Given the description of an element on the screen output the (x, y) to click on. 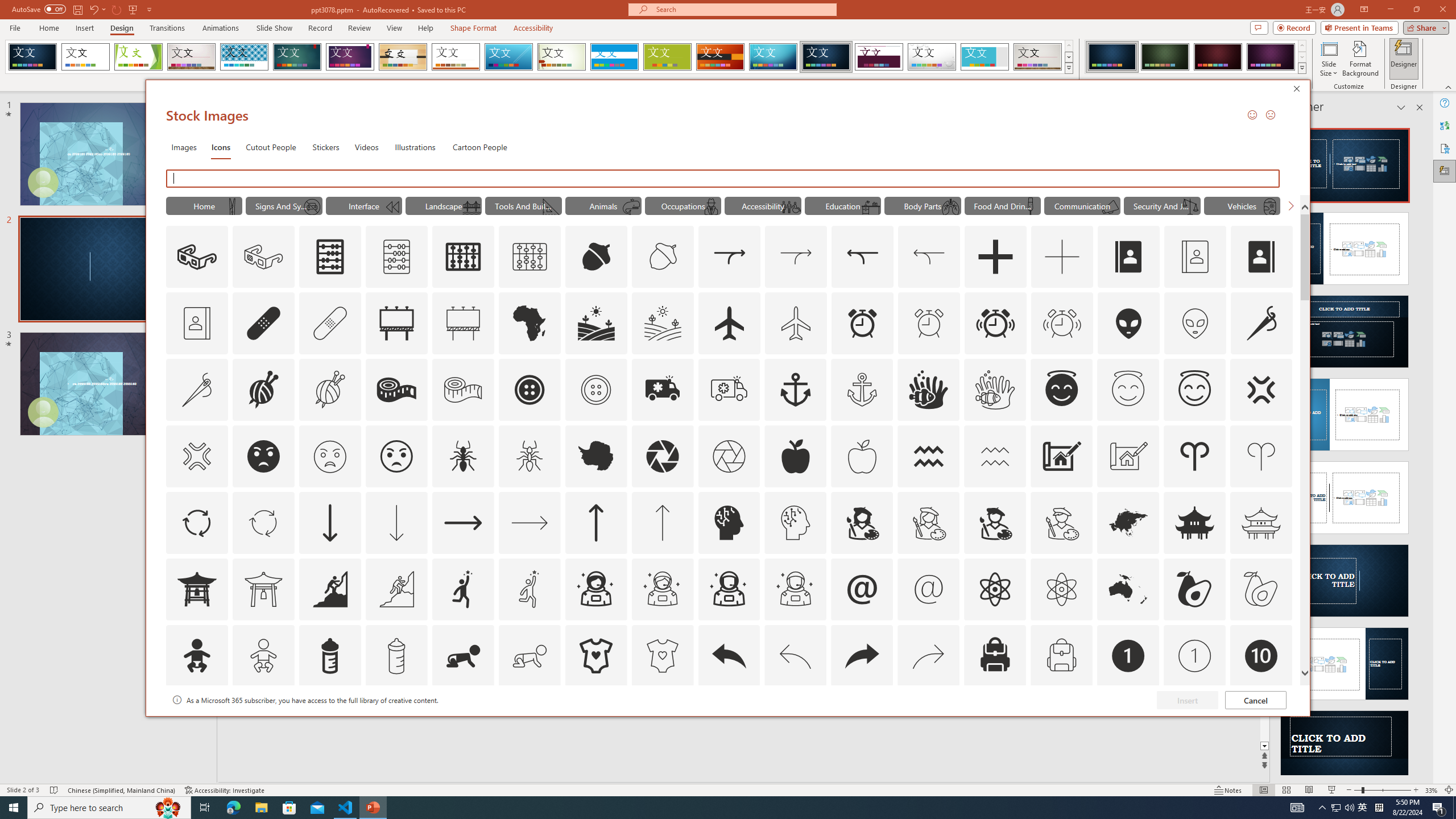
AutomationID: Icons_ArtistFemale_M (928, 522)
Ion (296, 56)
"Food And Drinks" Icons. (1002, 205)
Berlin (720, 56)
Icons (220, 146)
AutomationID: Icons_Aspiration (329, 588)
Action Center, 1 new notification (1439, 807)
AutomationID: Icons_Badge7 (928, 721)
AutomationID: Icons_Aperture (662, 455)
"Interface" Icons. (363, 205)
AutomationID: Icons_Back_LTR (729, 655)
